Given the description of an element on the screen output the (x, y) to click on. 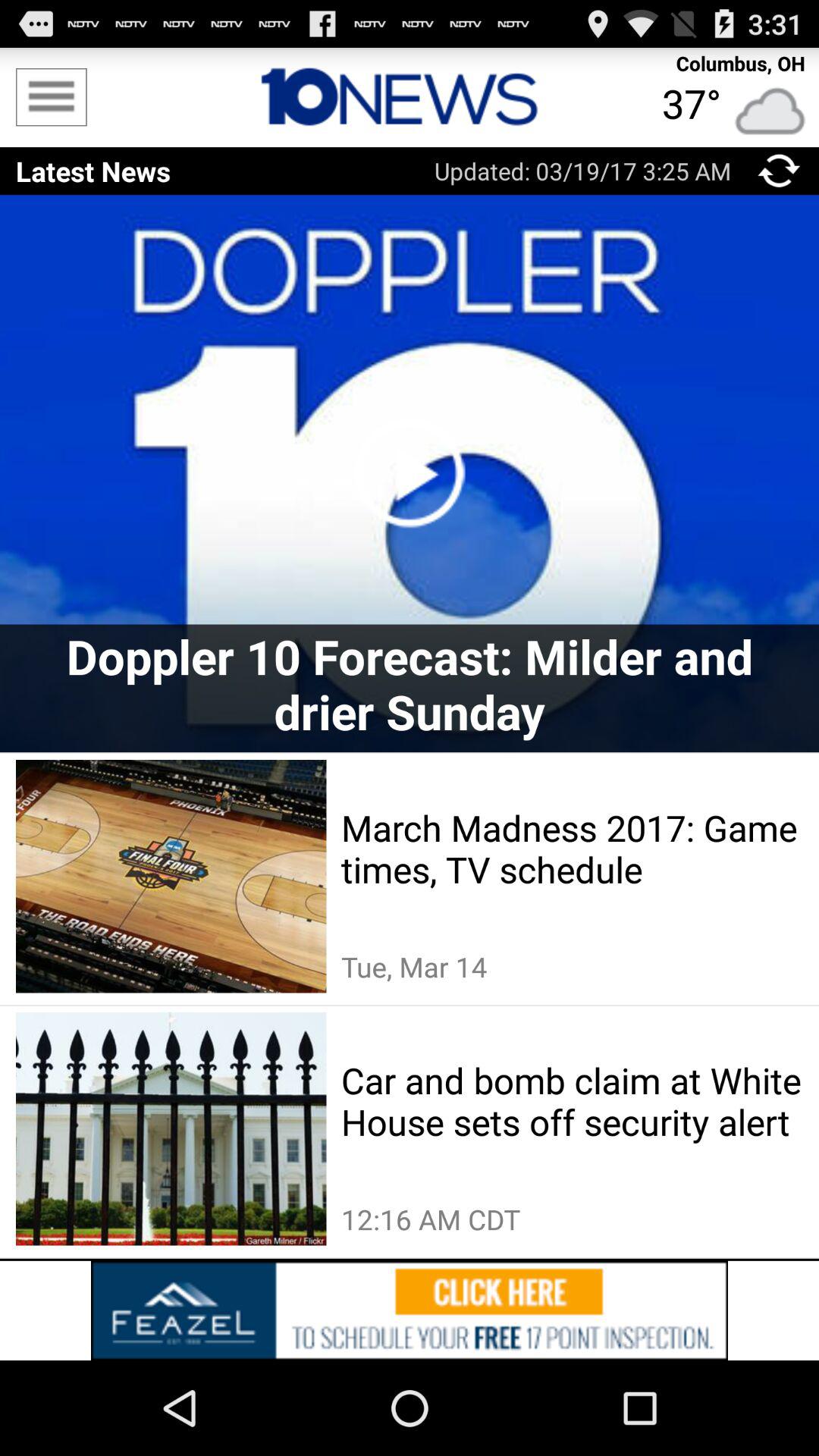
refresh page (779, 171)
